Given the description of an element on the screen output the (x, y) to click on. 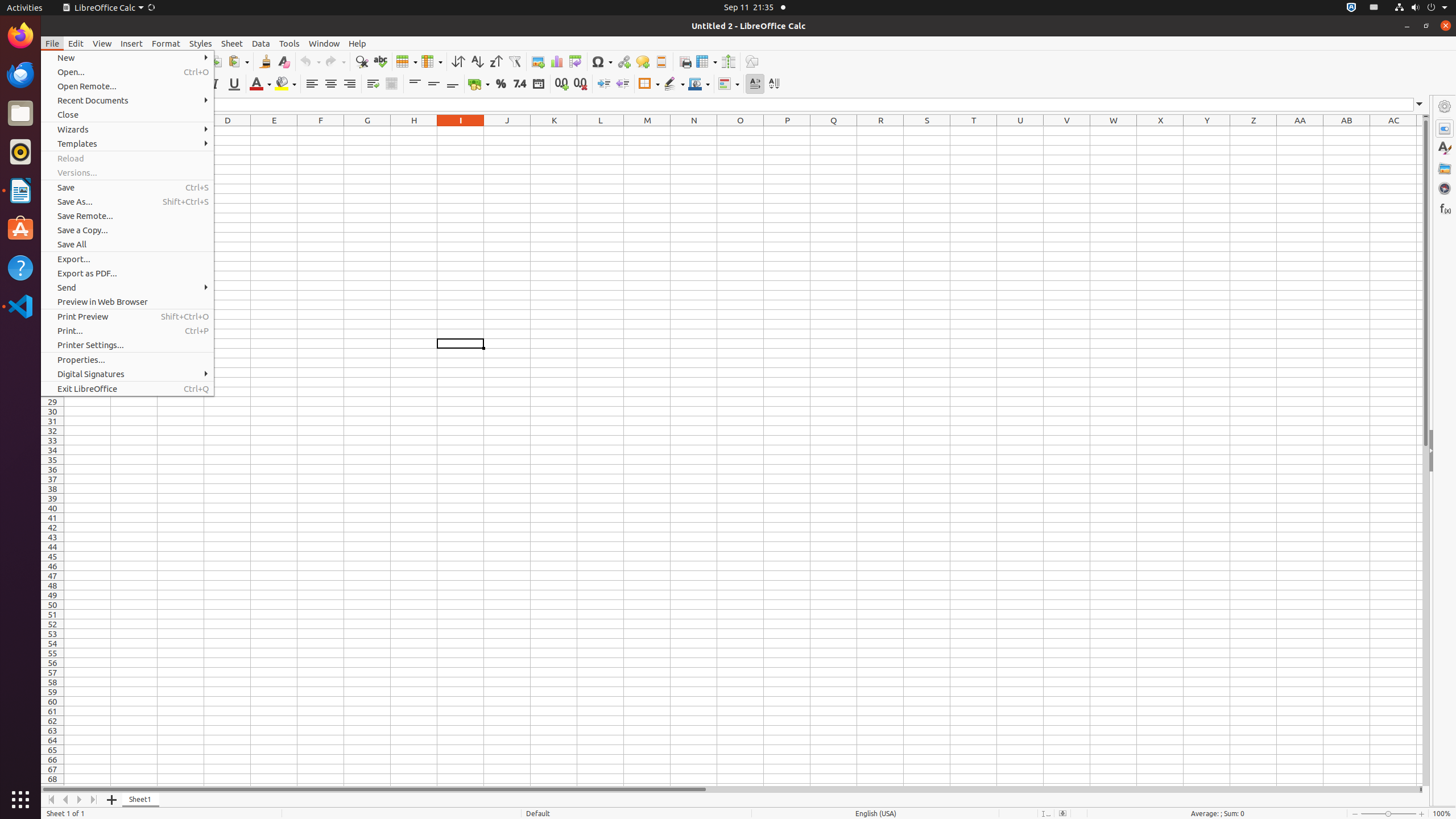
Clear Element type: push-button (283, 61)
Horizontal scroll bar Element type: scroll-bar (729, 789)
Background Color Element type: push-button (285, 83)
Clone Element type: push-button (264, 61)
Wizards Element type: menu (126, 129)
